Given the description of an element on the screen output the (x, y) to click on. 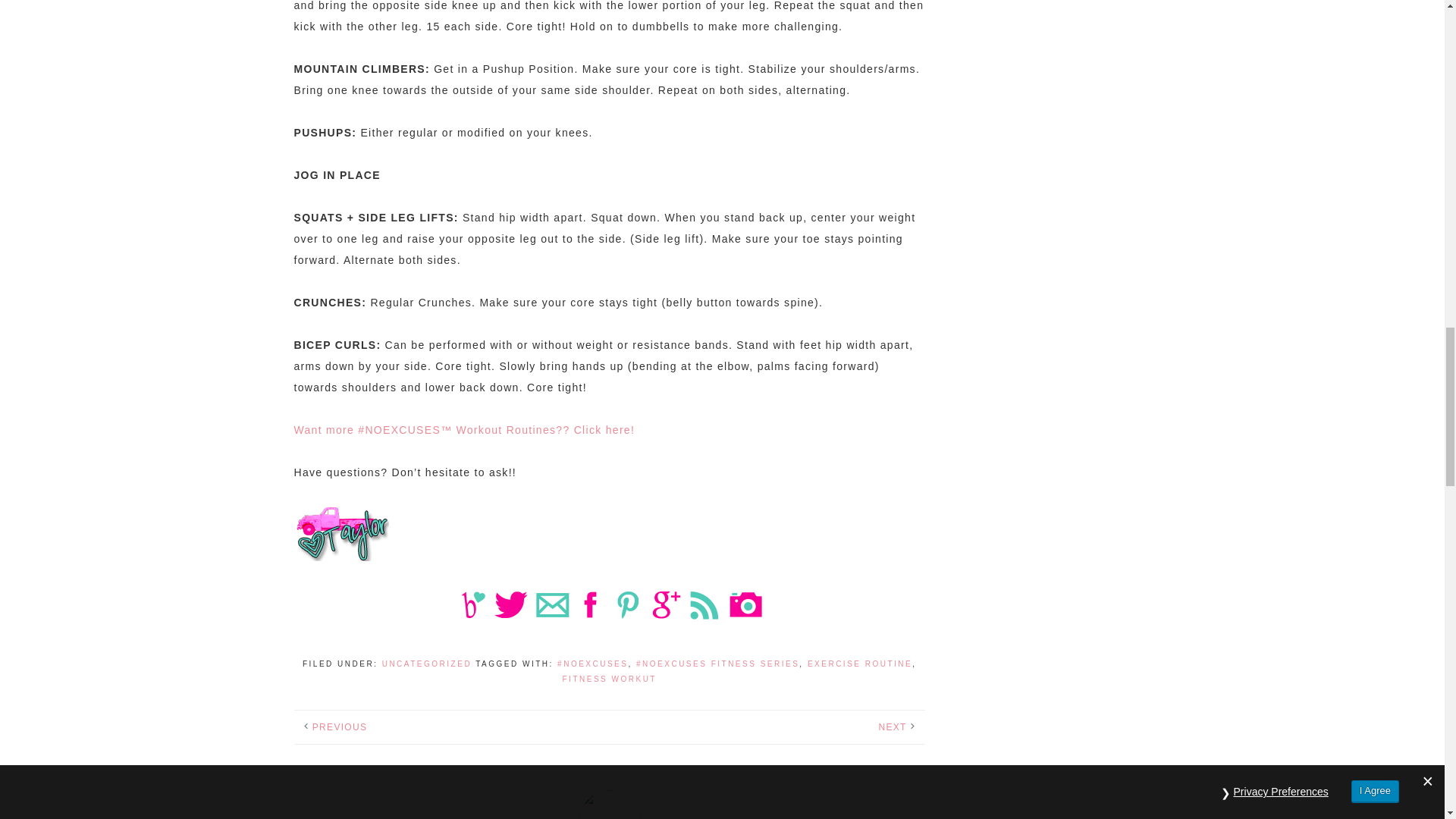
PREVIOUS (339, 726)
FITNESS WORKUT (609, 678)
EXERCISE ROUTINE (860, 664)
NEXT (891, 726)
UNCATEGORIZED (426, 664)
